Given the description of an element on the screen output the (x, y) to click on. 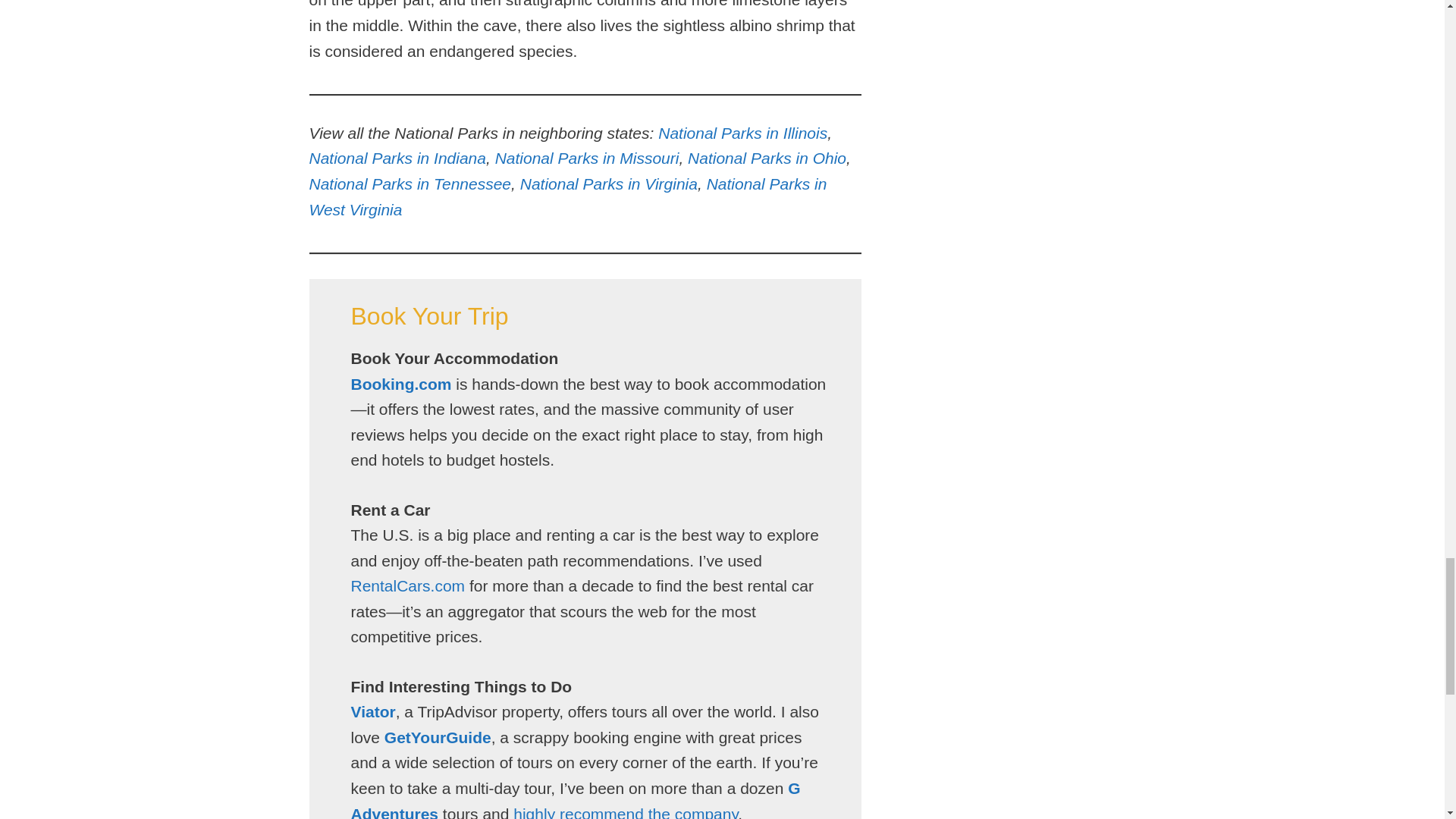
National Parks in Virginia (608, 183)
Viator (372, 711)
highly recommend the company (625, 812)
National Parks in Illinois (742, 132)
Booking.com (400, 384)
National Parks in West Virginia (567, 196)
RentalCars.com (407, 585)
National Parks in Ohio (766, 158)
National Parks in Tennessee (410, 183)
GetYourGuide (438, 737)
